Given the description of an element on the screen output the (x, y) to click on. 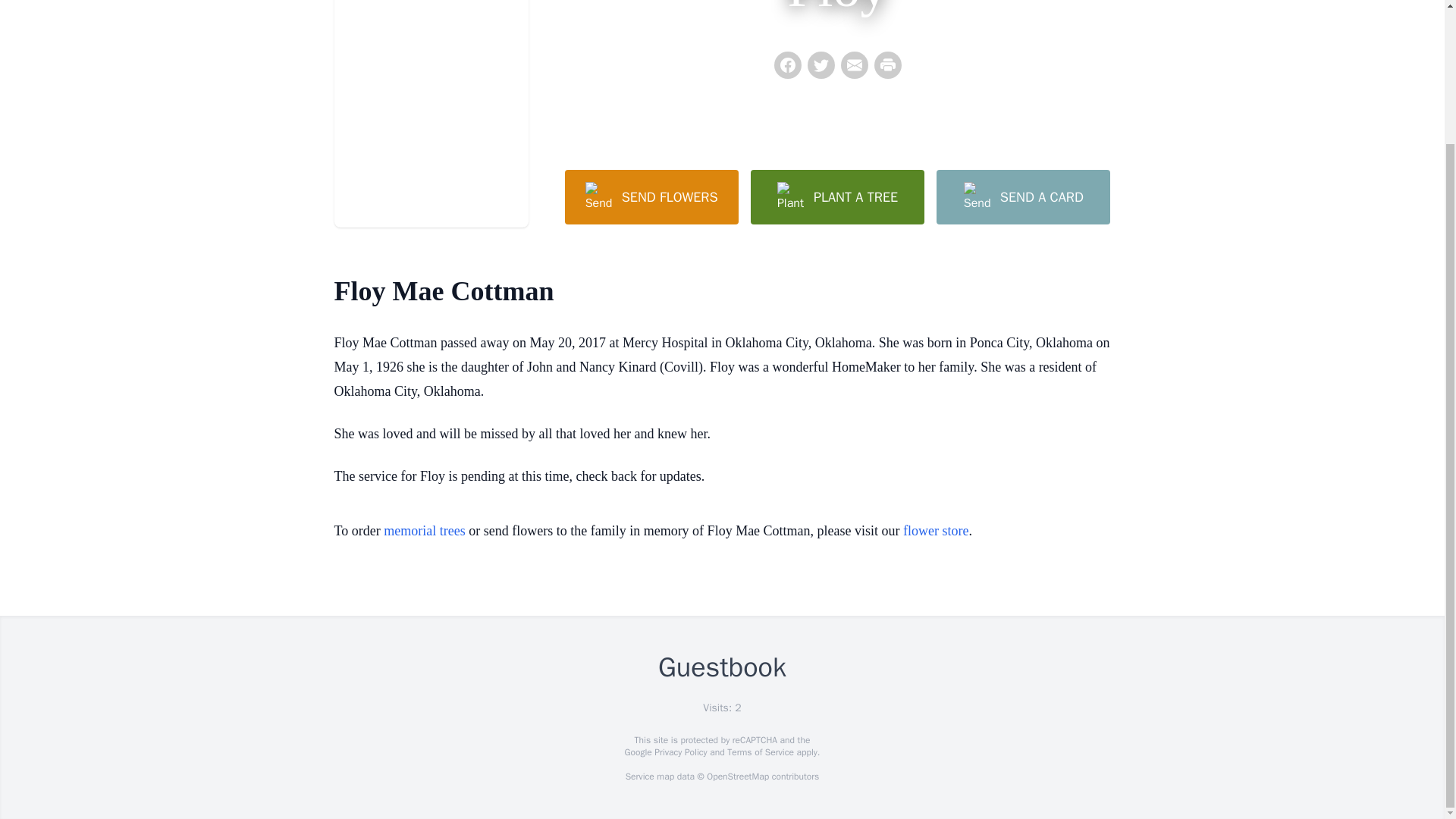
PLANT A TREE (837, 196)
OpenStreetMap (737, 776)
SEND A CARD (1022, 196)
flower store (935, 530)
memorial trees (424, 530)
SEND FLOWERS (651, 196)
Privacy Policy (679, 752)
Terms of Service (759, 752)
